Given the description of an element on the screen output the (x, y) to click on. 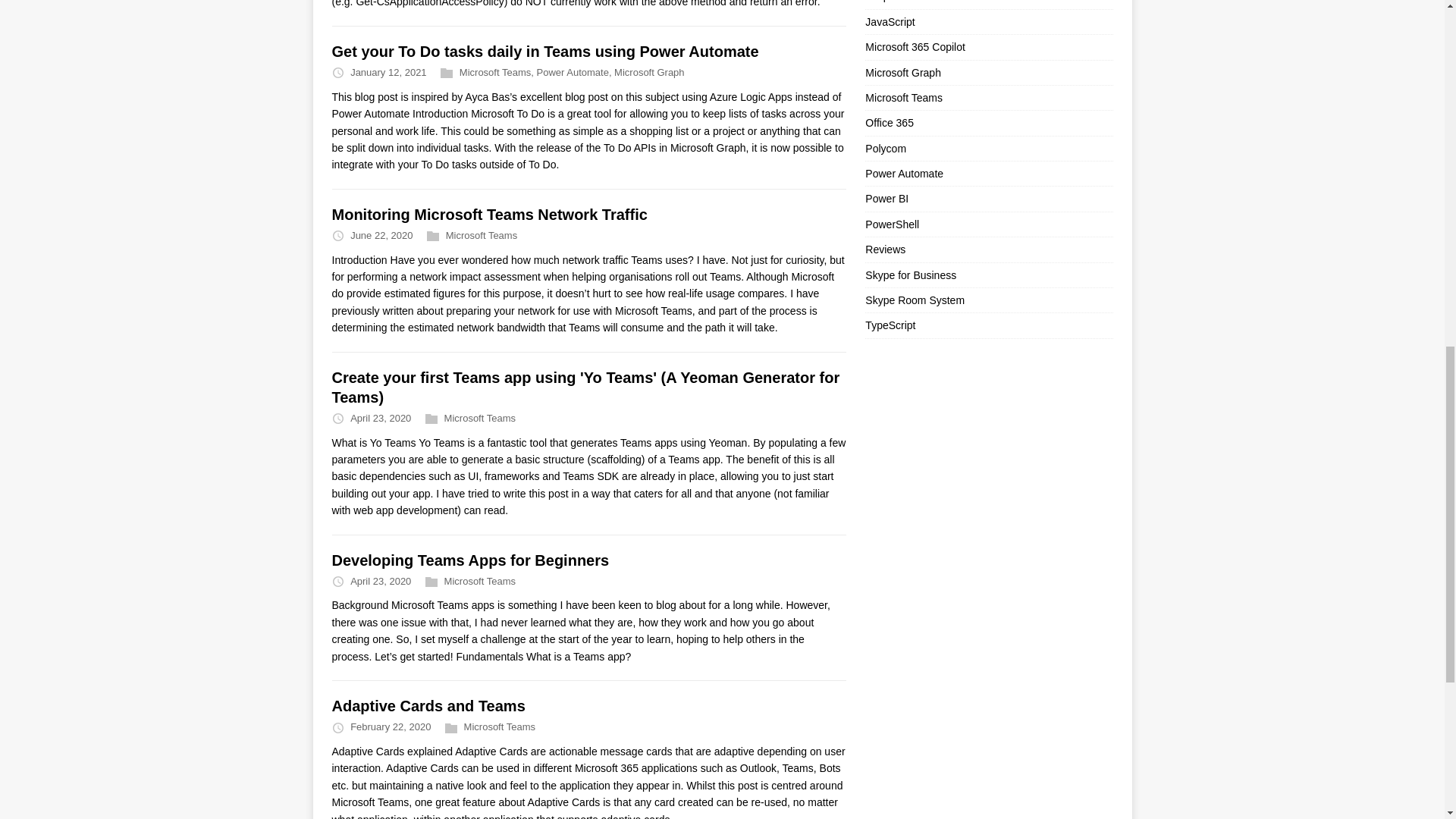
Microsoft Teams (480, 235)
Adaptive Cards and Teams (428, 705)
Developing Teams Apps for Beginners (470, 560)
Monitoring Microsoft Teams Network Traffic (489, 214)
Microsoft Teams (495, 71)
Power Automate (571, 71)
Microsoft Teams (479, 418)
Microsoft Graph (649, 71)
Microsoft Teams (479, 581)
Get your To Do tasks daily in Teams using Power Automate (544, 51)
Microsoft Teams (499, 726)
